Given the description of an element on the screen output the (x, y) to click on. 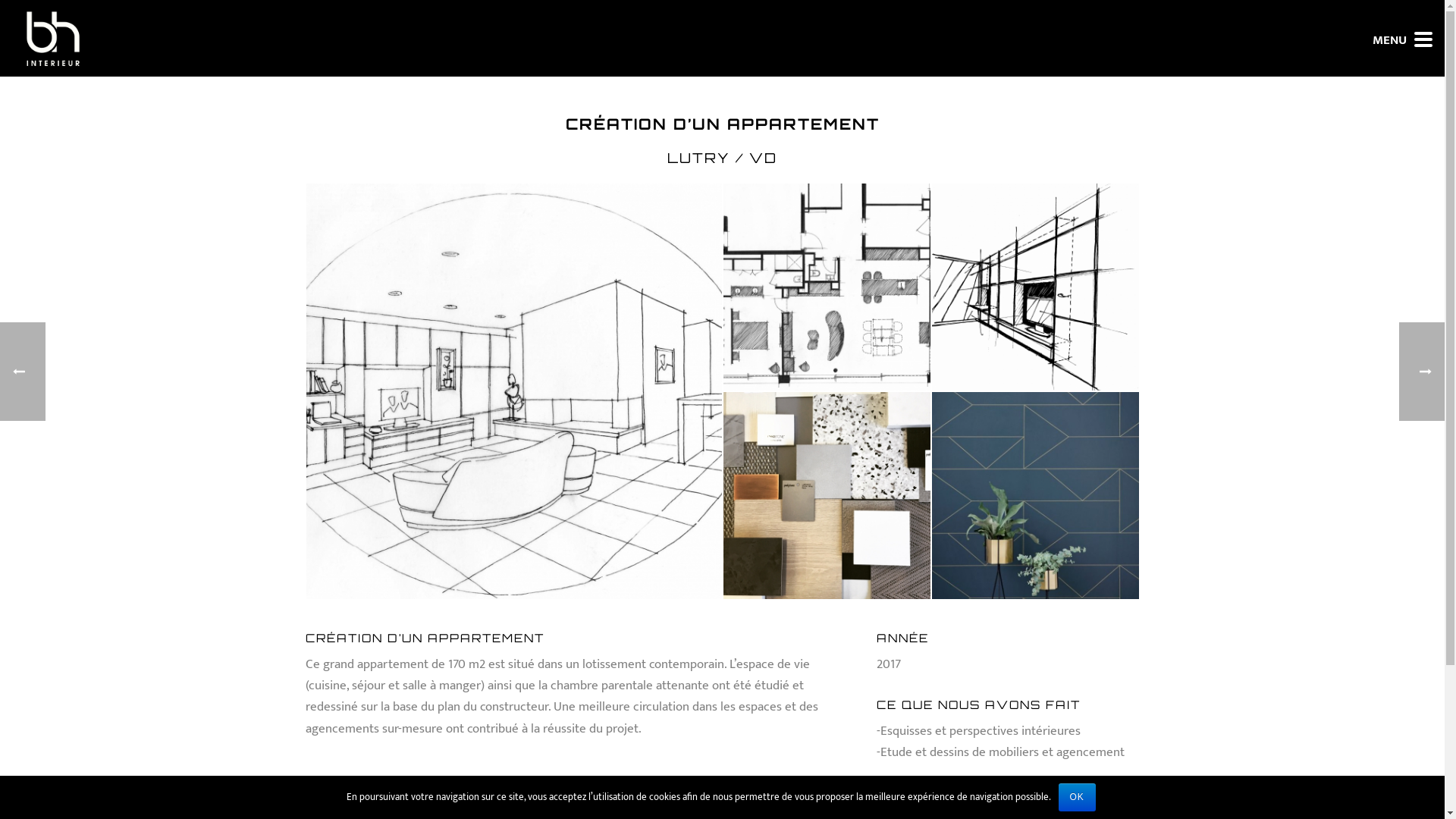
Perspective-salon-bh-interieur Element type: hover (505, 382)
OK Element type: text (1076, 797)
Croquis-dessus-bh-interieur Element type: hover (821, 282)
architecte-interieur-appartement-bh Element type: hover (821, 491)
croquis-appartement-lutry-bh-interieur Element type: hover (1030, 282)
creation-appartement-bh-interieur-design Element type: hover (1030, 491)
